Given the description of an element on the screen output the (x, y) to click on. 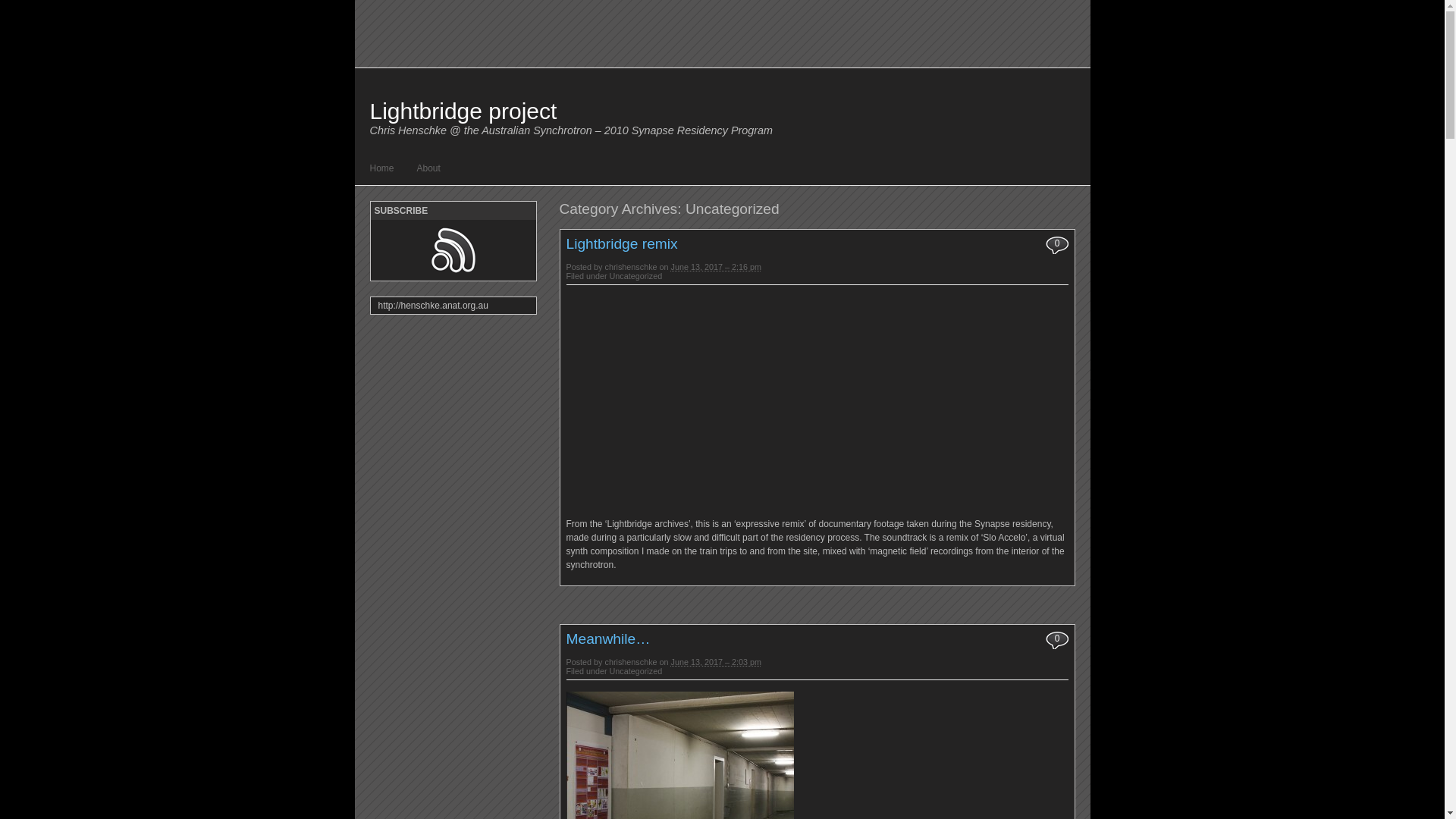
Lightbridge project Element type: text (463, 110)
Lightbridge remix Element type: text (621, 243)
Uncategorized Element type: text (635, 275)
0 Element type: text (1058, 244)
Subscribe to Lightbridge project Element type: hover (453, 249)
About Element type: text (428, 168)
http://henschke.anat.org.au Element type: text (452, 305)
Uncategorized Element type: text (635, 670)
Home Element type: text (382, 168)
chrishenschke Element type: text (631, 266)
chrishenschke Element type: text (631, 661)
0 Element type: text (1058, 639)
